Given the description of an element on the screen output the (x, y) to click on. 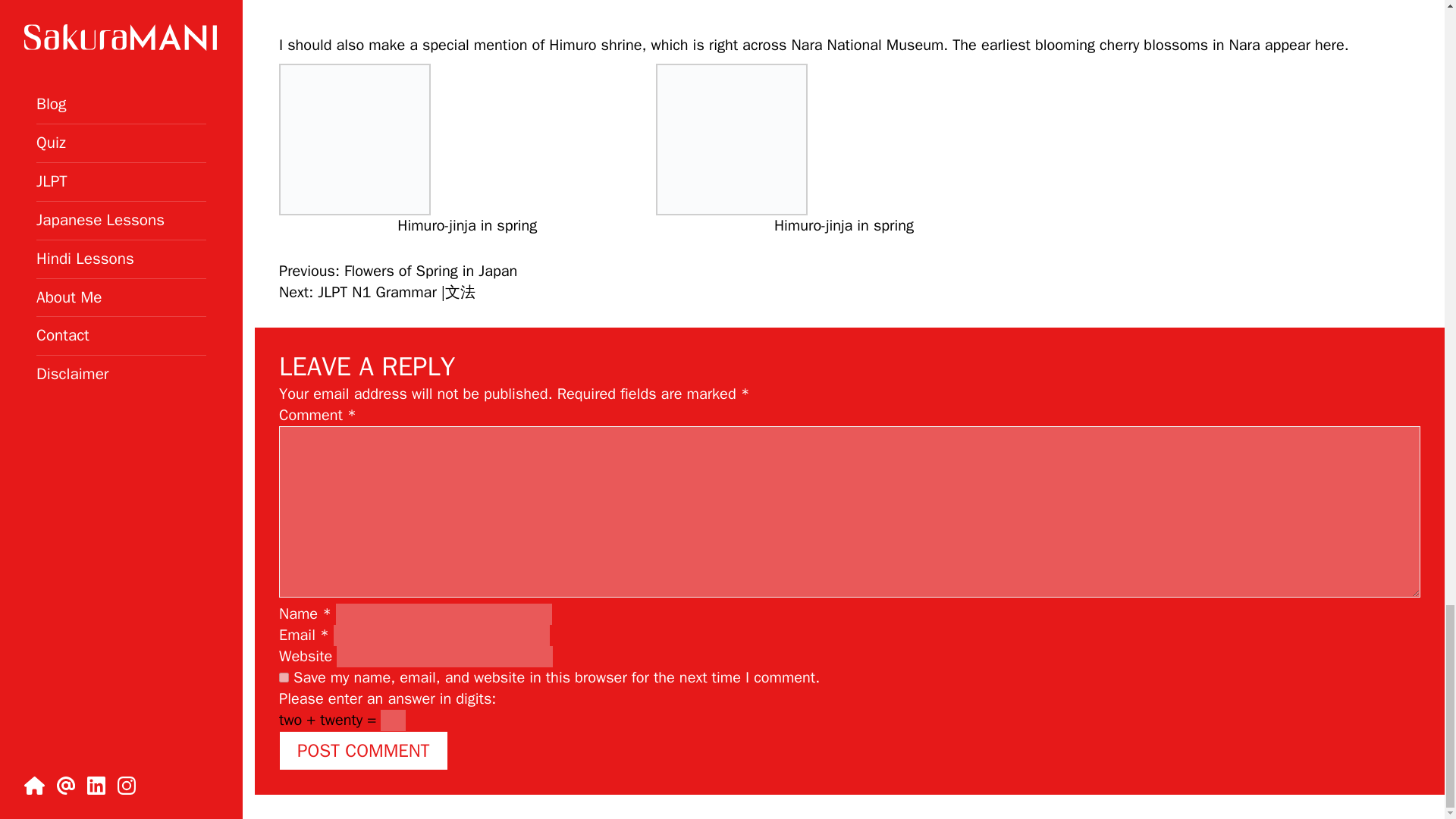
Post Comment (363, 750)
Previous: Flowers of Spring in Japan (397, 270)
Post Comment (363, 750)
yes (283, 677)
